Given the description of an element on the screen output the (x, y) to click on. 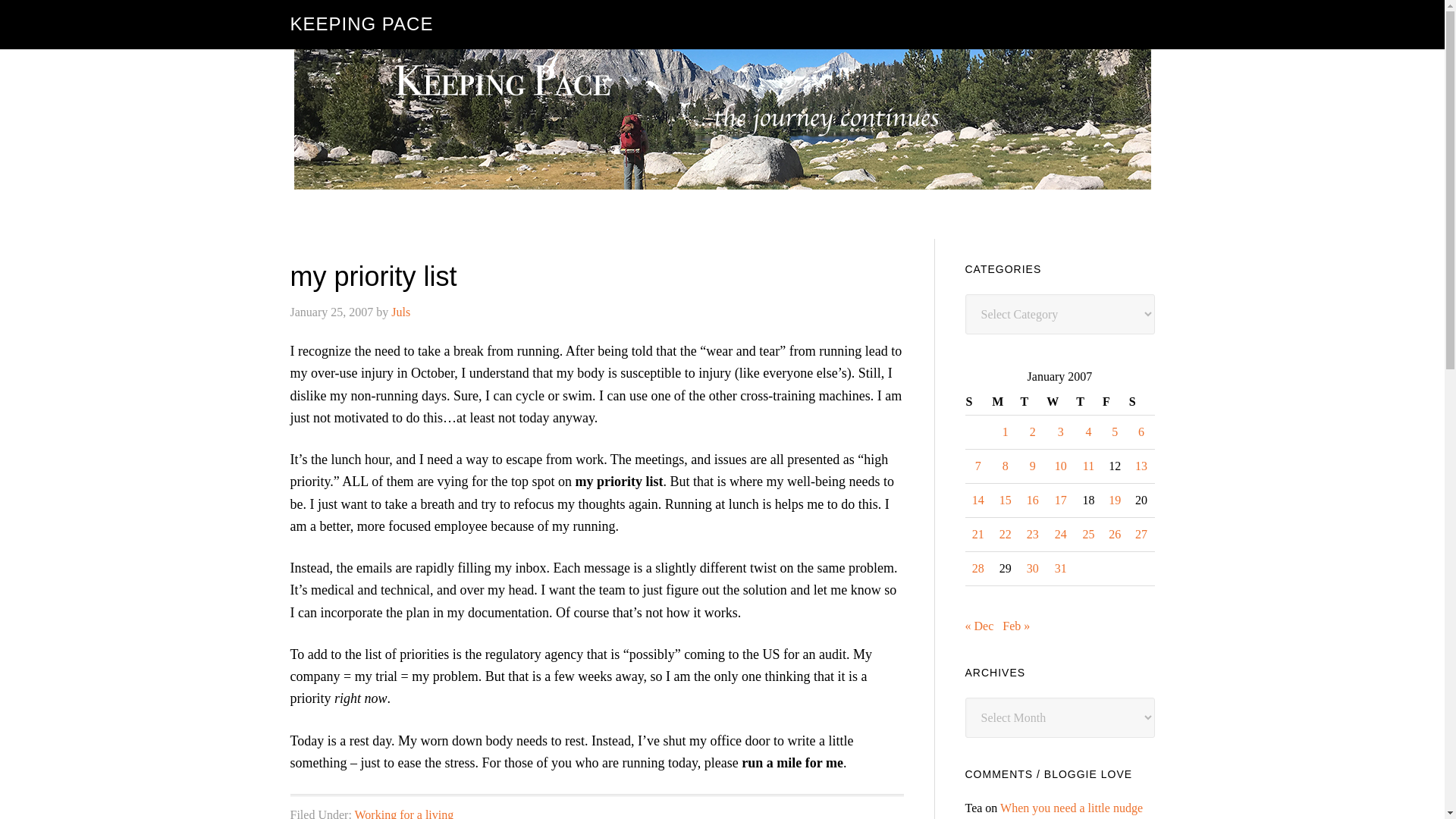
Sunday (977, 402)
31 (1060, 567)
10 (1060, 465)
23 (1032, 533)
30 (1032, 567)
19 (1114, 499)
15 (1004, 499)
Thursday (1088, 402)
17 (1060, 499)
26 (1114, 533)
